Given the description of an element on the screen output the (x, y) to click on. 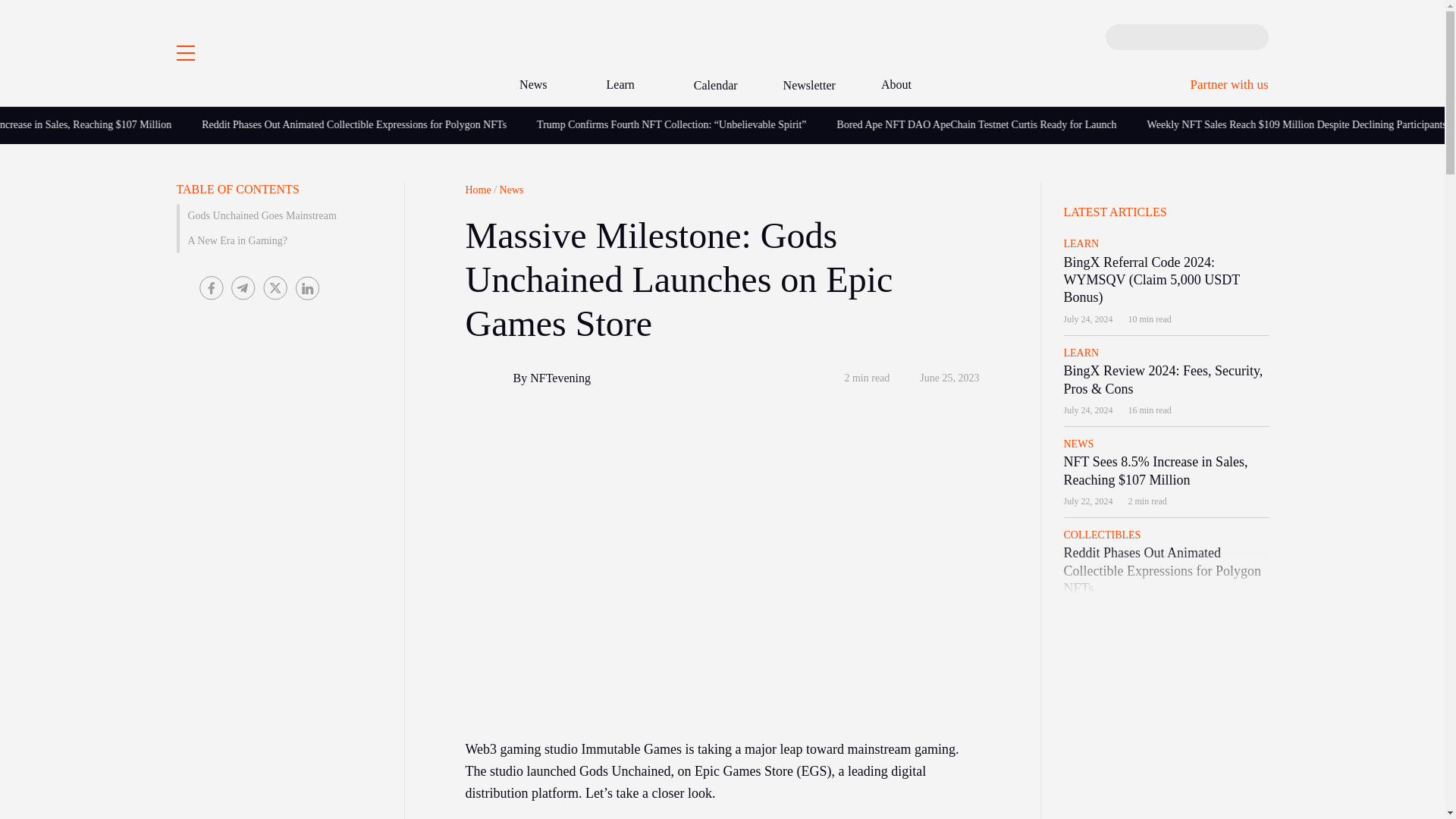
News (539, 84)
Partner with us (1229, 83)
Search (1119, 36)
Gods Unchained Goes Mainstream (278, 215)
A New Era in Gaming? (278, 241)
